Given the description of an element on the screen output the (x, y) to click on. 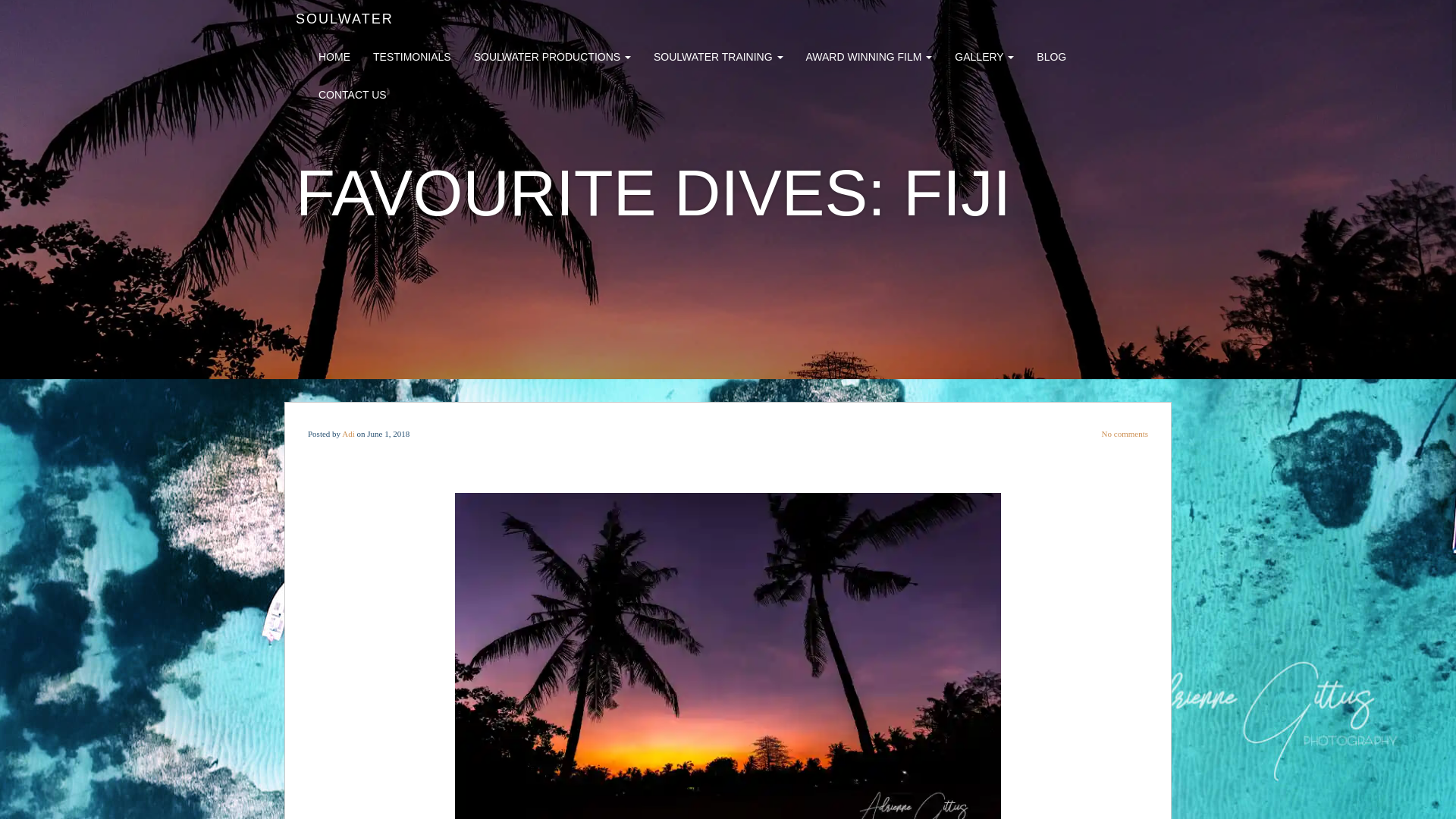
AWARD WINNING FILM (868, 52)
SOULWATER (343, 18)
GALLERY (984, 52)
CONTACT US (352, 91)
Home (334, 52)
No comments (1125, 433)
HOME (334, 52)
Soulwater Productions (552, 52)
Award Winning Film (868, 52)
TESTIMONIALS (411, 52)
Adi (348, 433)
BLOG (1051, 52)
Testimonials (411, 52)
Soulwater Training (718, 52)
SOULWATER PRODUCTIONS (552, 52)
